Given the description of an element on the screen output the (x, y) to click on. 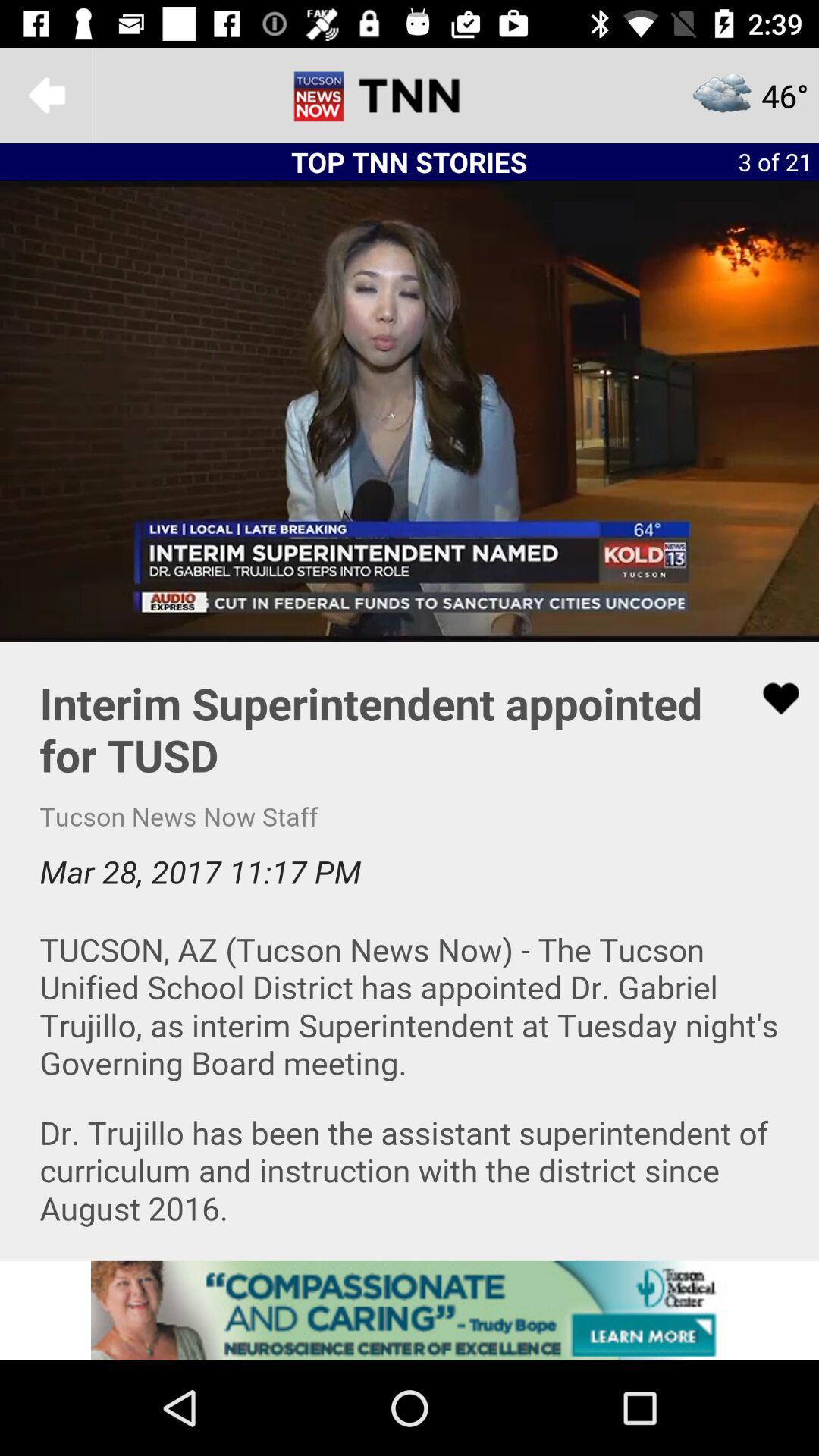
undo (47, 95)
